Given the description of an element on the screen output the (x, y) to click on. 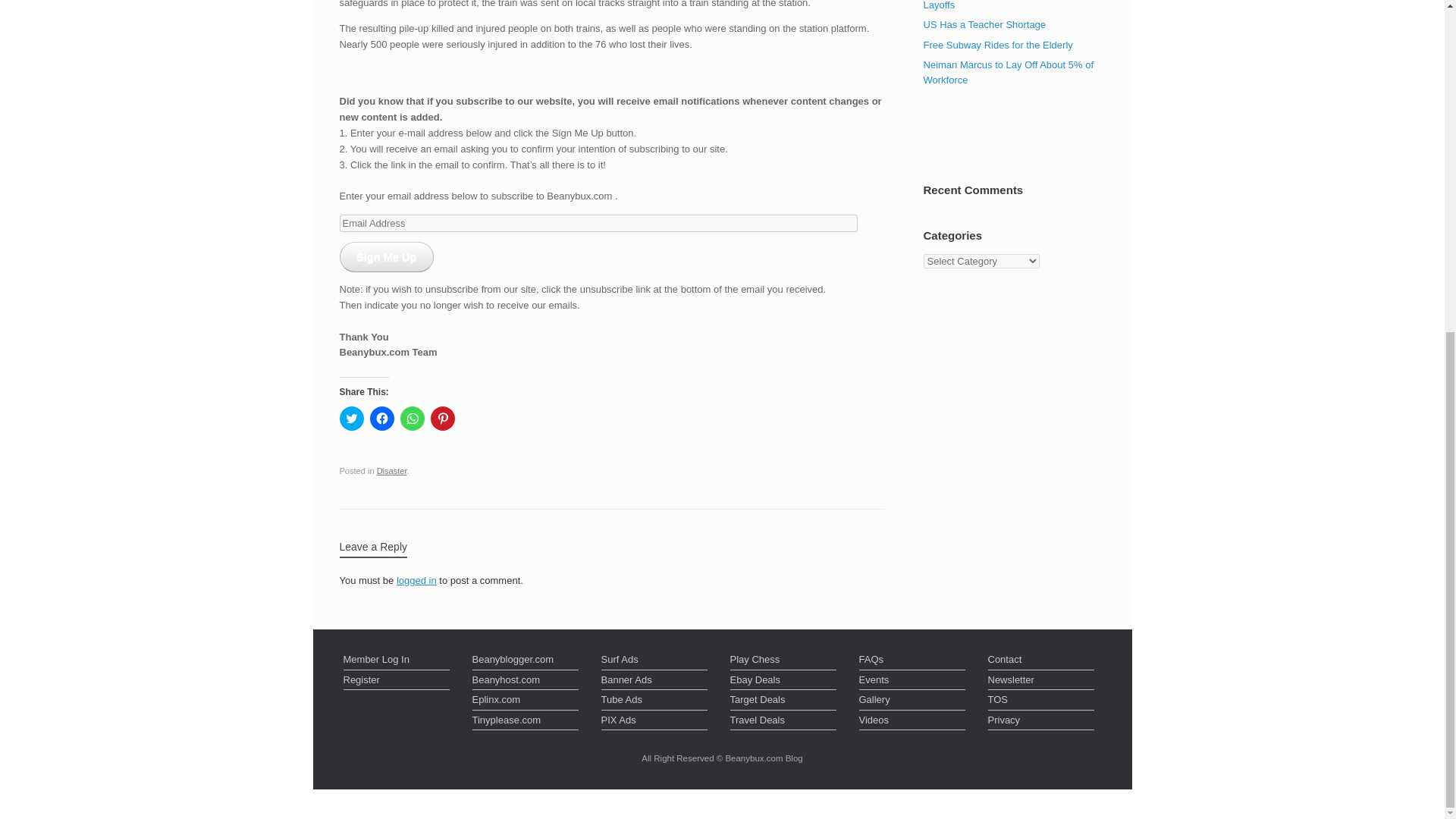
Click to share on Pinterest (442, 418)
Sign Me Up (386, 256)
Click to share on Facebook (381, 418)
Click to share on Twitter (351, 418)
logged in (416, 580)
Click to share on WhatsApp (412, 418)
Disaster (392, 470)
